Given the description of an element on the screen output the (x, y) to click on. 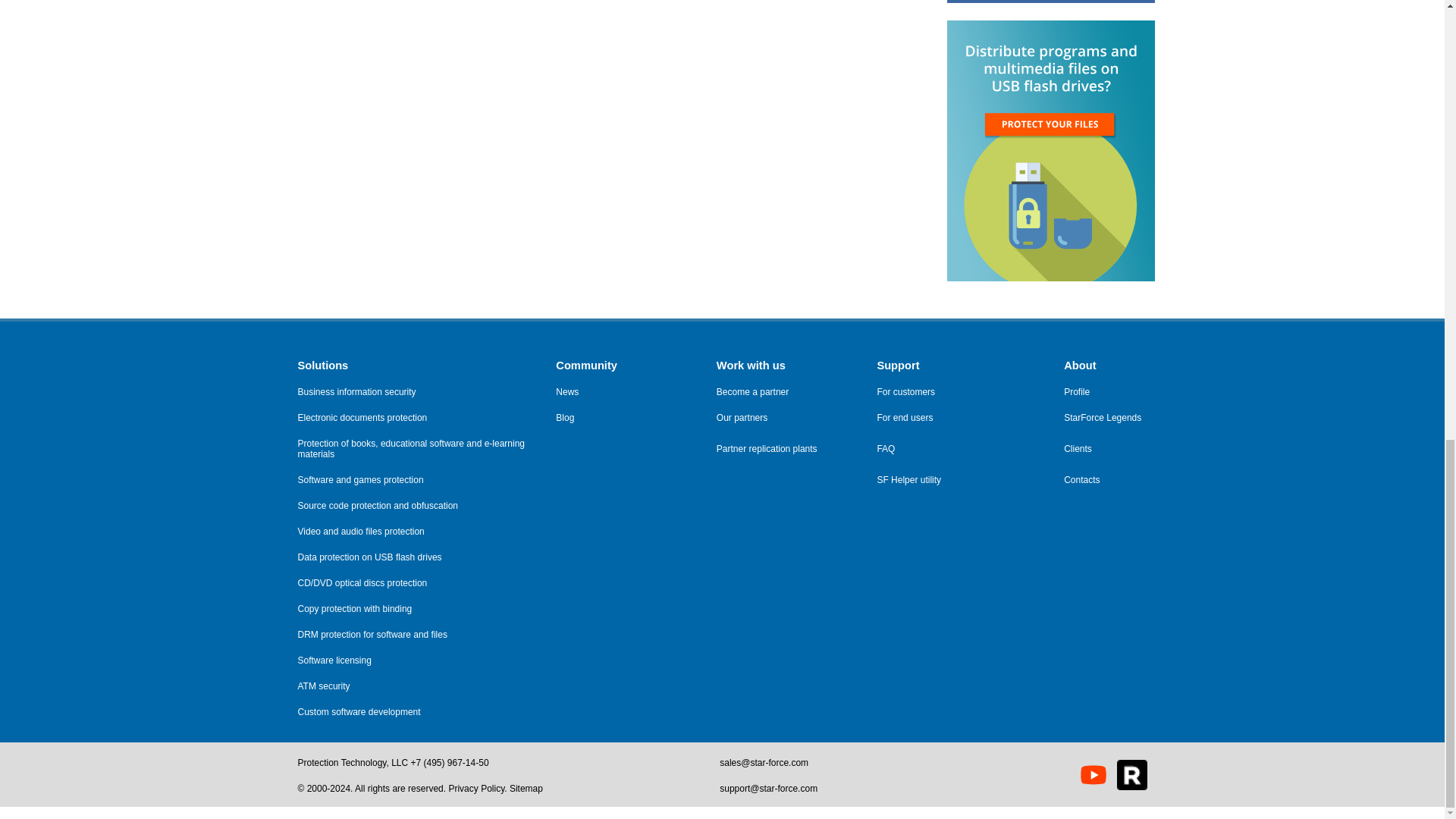
Sitemap (526, 787)
Privacy Policy (475, 787)
